Given the description of an element on the screen output the (x, y) to click on. 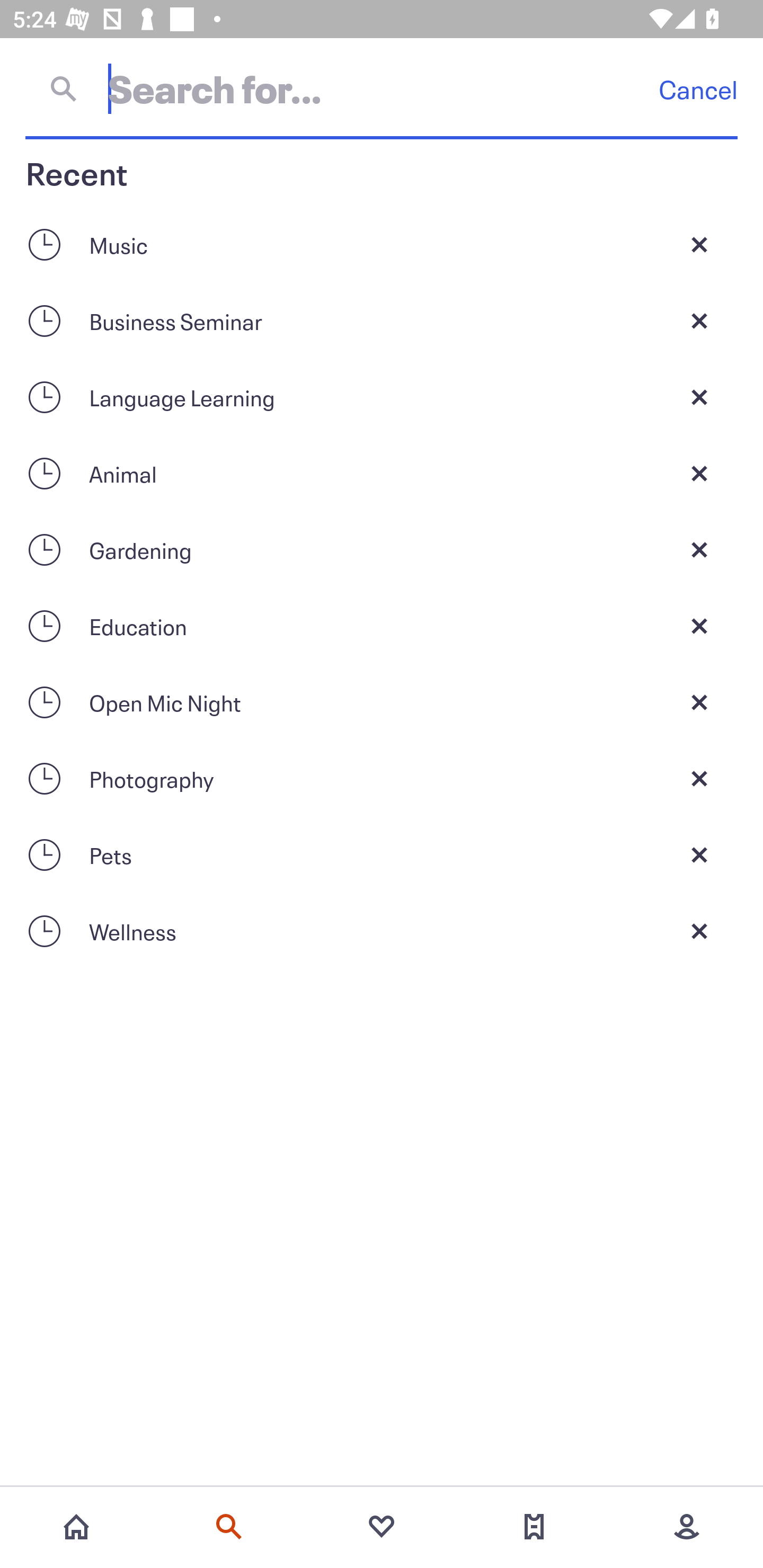
Cancel Search for… (381, 88)
Cancel (697, 89)
Music Close current screen (381, 244)
Close current screen (699, 244)
Business Seminar Close current screen (381, 320)
Close current screen (699, 320)
Language Learning Close current screen (381, 397)
Close current screen (699, 397)
Animal Close current screen (381, 473)
Close current screen (699, 473)
Gardening Close current screen (381, 549)
Close current screen (699, 549)
Education Close current screen (381, 626)
Close current screen (699, 626)
Open Mic Night Close current screen (381, 702)
Close current screen (699, 702)
Photography Close current screen (381, 778)
Close current screen (699, 778)
Pets Close current screen (381, 854)
Close current screen (699, 854)
Wellness Close current screen (381, 931)
Close current screen (699, 931)
Home (76, 1526)
Search events (228, 1526)
Favorites (381, 1526)
Tickets (533, 1526)
More (686, 1526)
